Given the description of an element on the screen output the (x, y) to click on. 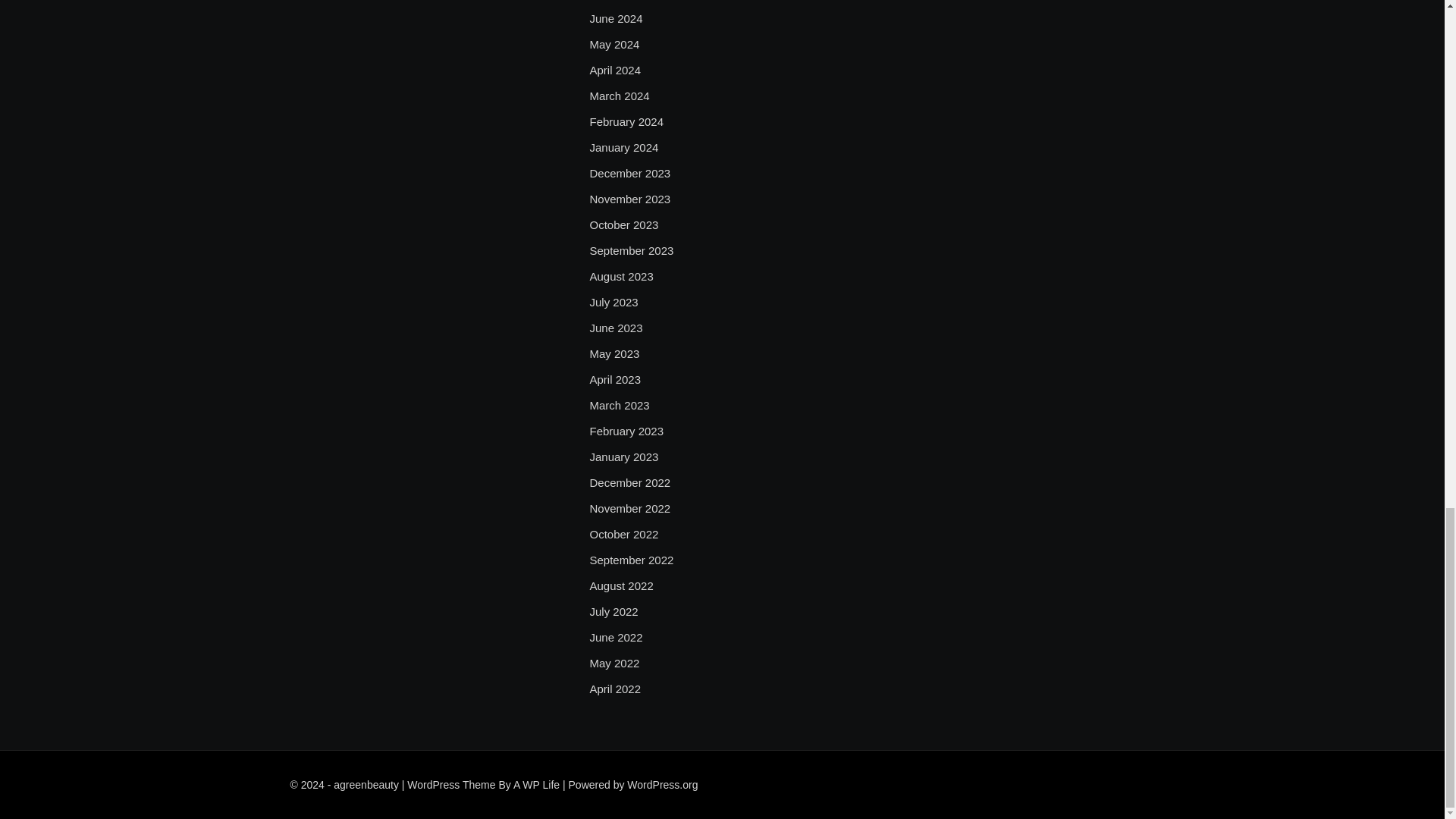
July 2024 (613, 1)
December 2023 (629, 173)
June 2024 (615, 18)
October 2023 (623, 225)
May 2024 (614, 45)
September 2023 (630, 250)
November 2023 (629, 199)
January 2024 (623, 147)
March 2024 (619, 95)
July 2023 (613, 302)
